Given the description of an element on the screen output the (x, y) to click on. 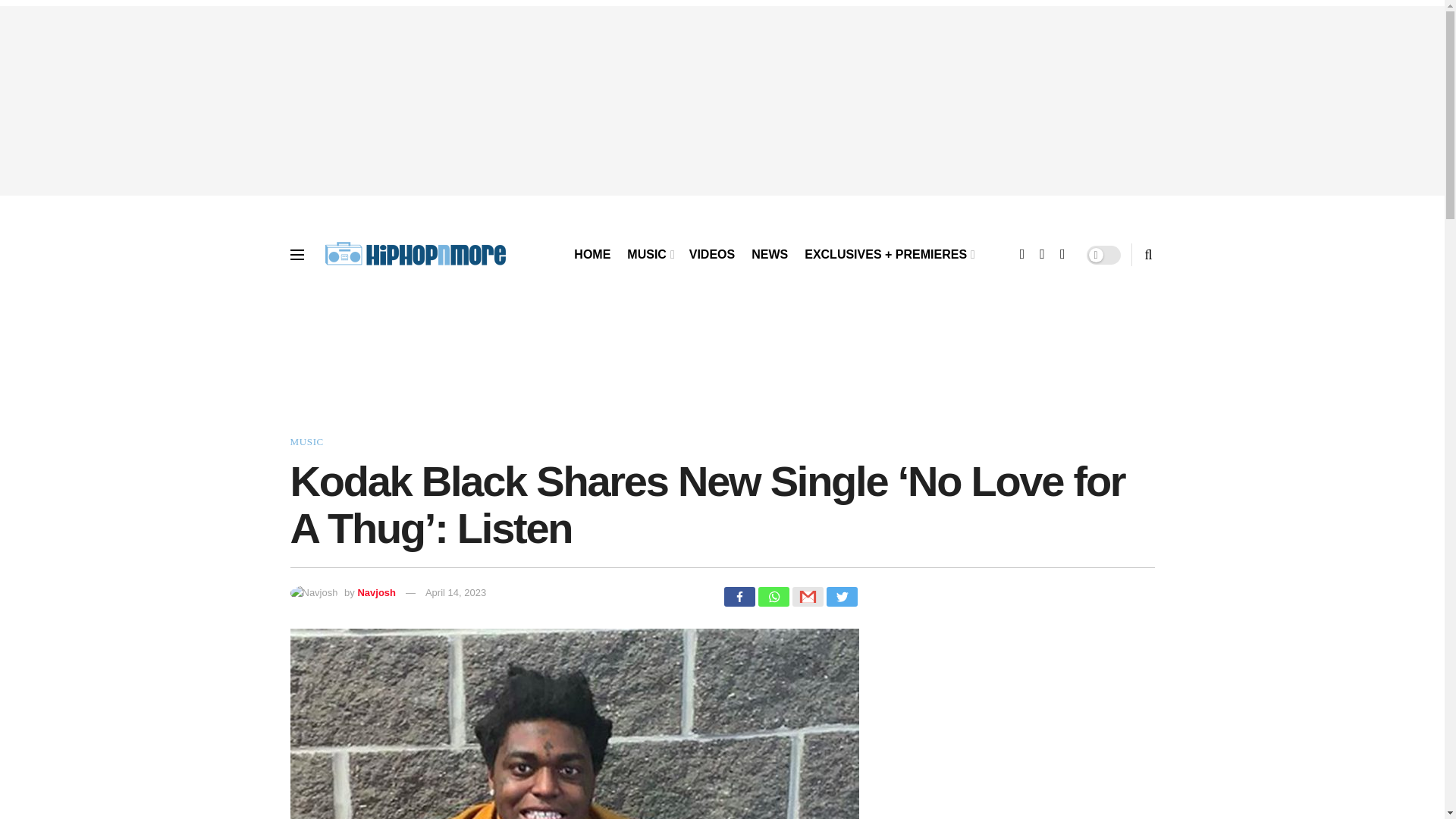
Facebook (738, 596)
MUSIC (306, 441)
Twitter (842, 596)
Google Gmail (807, 596)
NEWS (769, 254)
VIDEOS (711, 254)
April 14, 2023 (455, 592)
3rd party ad content (1007, 723)
HOME (591, 254)
MUSIC (649, 254)
Whatsapp (773, 596)
Navjosh (376, 592)
3rd party ad content (721, 370)
